Given the description of an element on the screen output the (x, y) to click on. 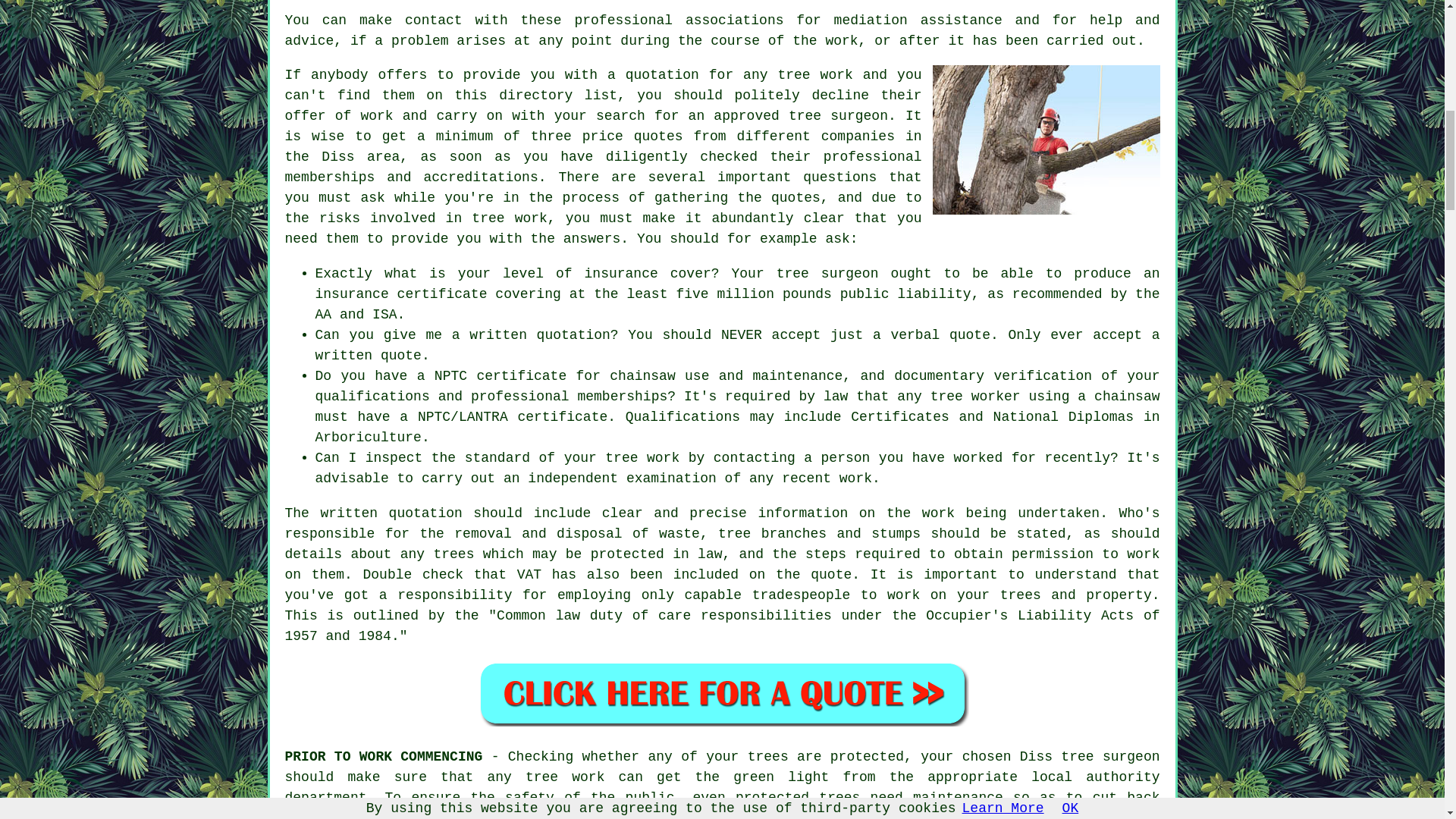
Click For Tree Surgery Estimates in the Diss Area of Norfolk (722, 693)
